Given the description of an element on the screen output the (x, y) to click on. 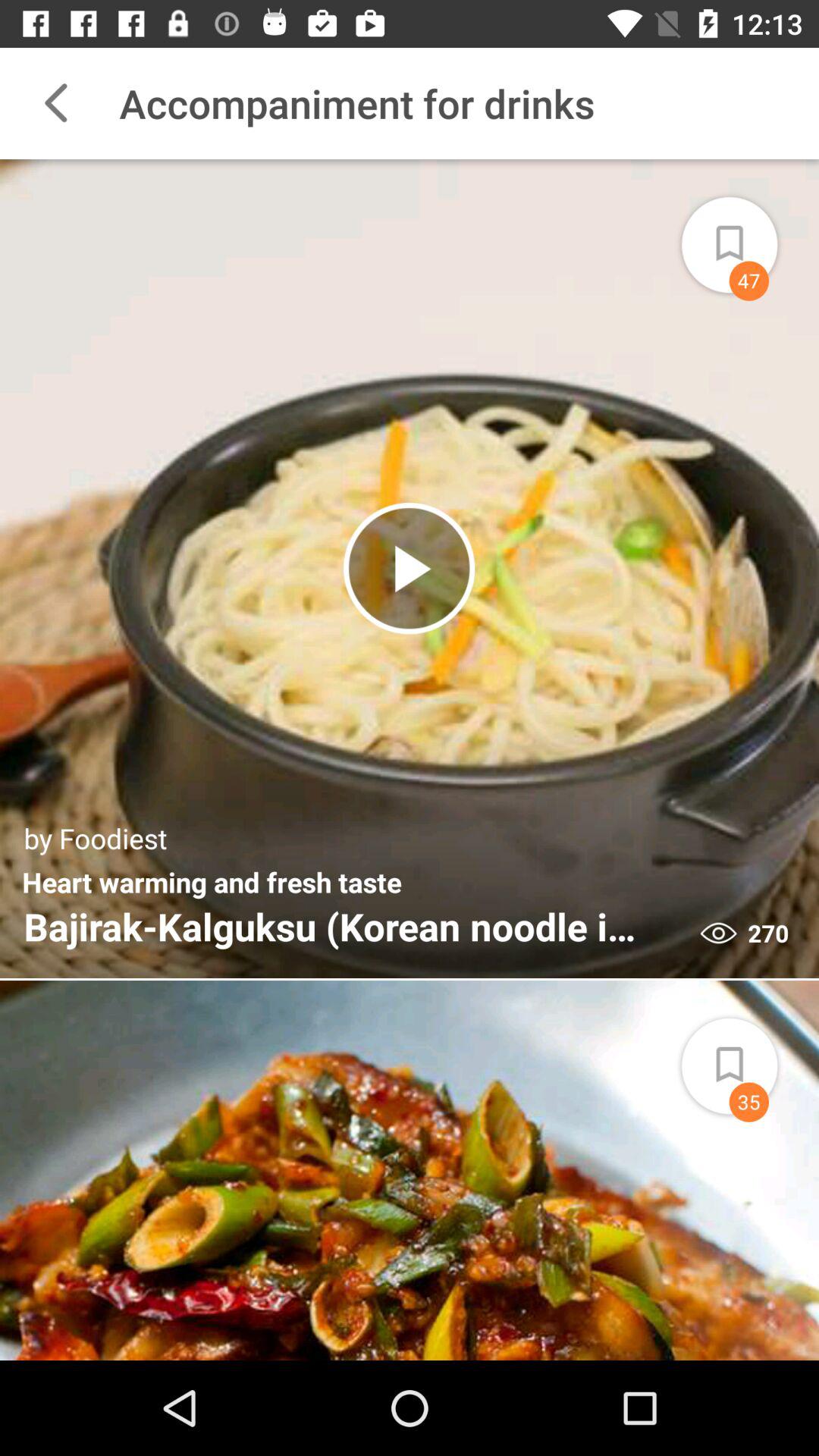
message (747, 235)
